Given the description of an element on the screen output the (x, y) to click on. 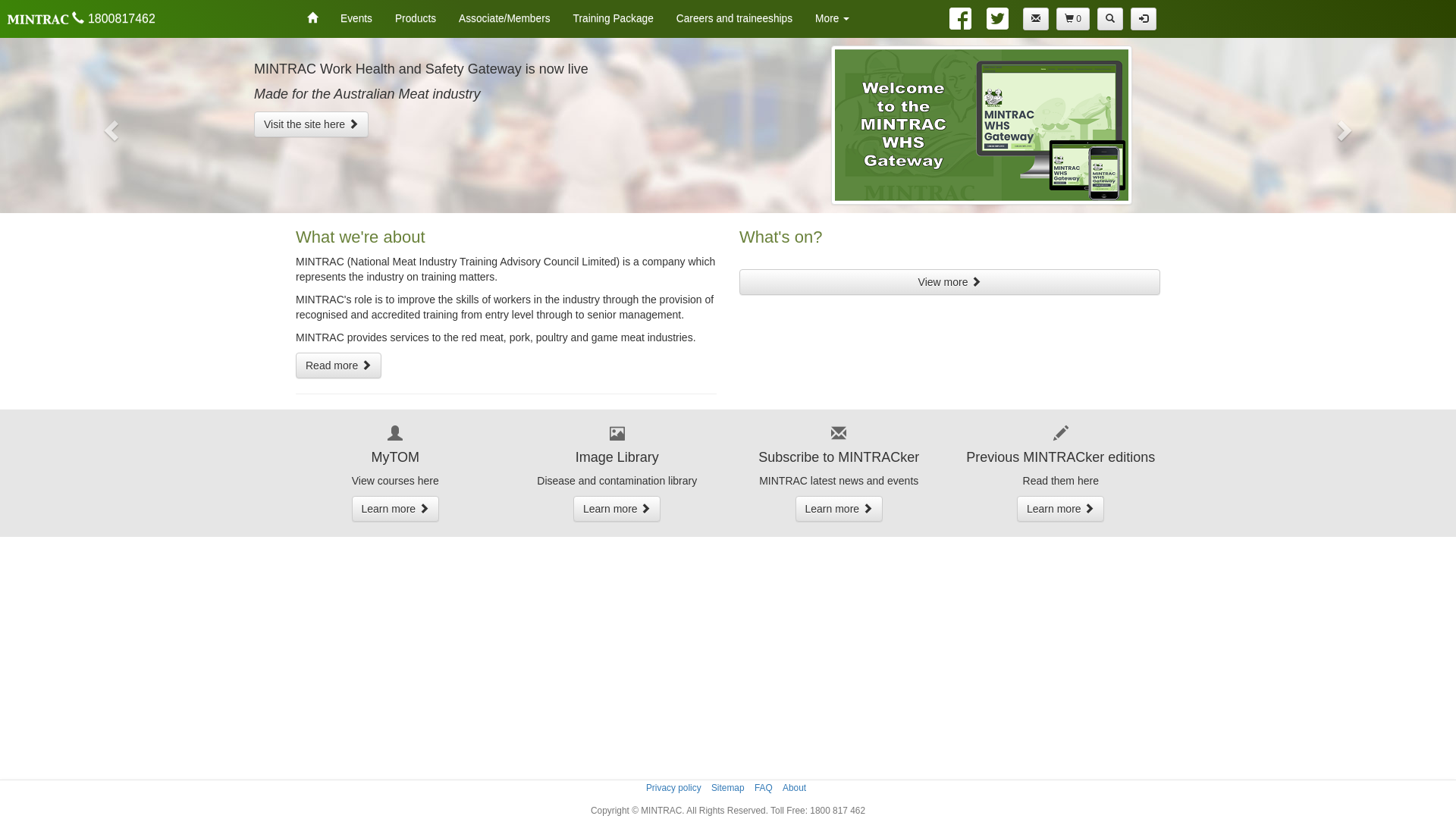
Careers and traineeships Element type: text (734, 18)
Visit the site here Element type: text (311, 124)
Products Element type: text (415, 18)
Read more Element type: text (338, 365)
Events Element type: text (356, 18)
 0 Element type: text (1072, 18)
Search MINTRAC Element type: hover (1110, 18)
Learn more Element type: text (1060, 508)
View more Element type: text (949, 281)
Find us on Twitter Element type: hover (994, 18)
Find us on Facebook Element type: hover (962, 18)
Sitemap Element type: text (727, 787)
Associate/Members Element type: text (504, 18)
FAQ Element type: text (763, 787)
Home Element type: hover (312, 18)
Training Package Element type: text (613, 18)
Learn more Element type: text (395, 508)
Learn more Element type: text (616, 508)
More Element type: text (831, 18)
Privacy policy Element type: text (673, 787)
About Element type: text (794, 787)
Previous Element type: text (109, 125)
Login Element type: hover (1143, 18)
Learn more Element type: text (837, 508)
1800817462 Element type: text (80, 18)
Subscribe to MINTRACker Element type: hover (1035, 18)
